Given the description of an element on the screen output the (x, y) to click on. 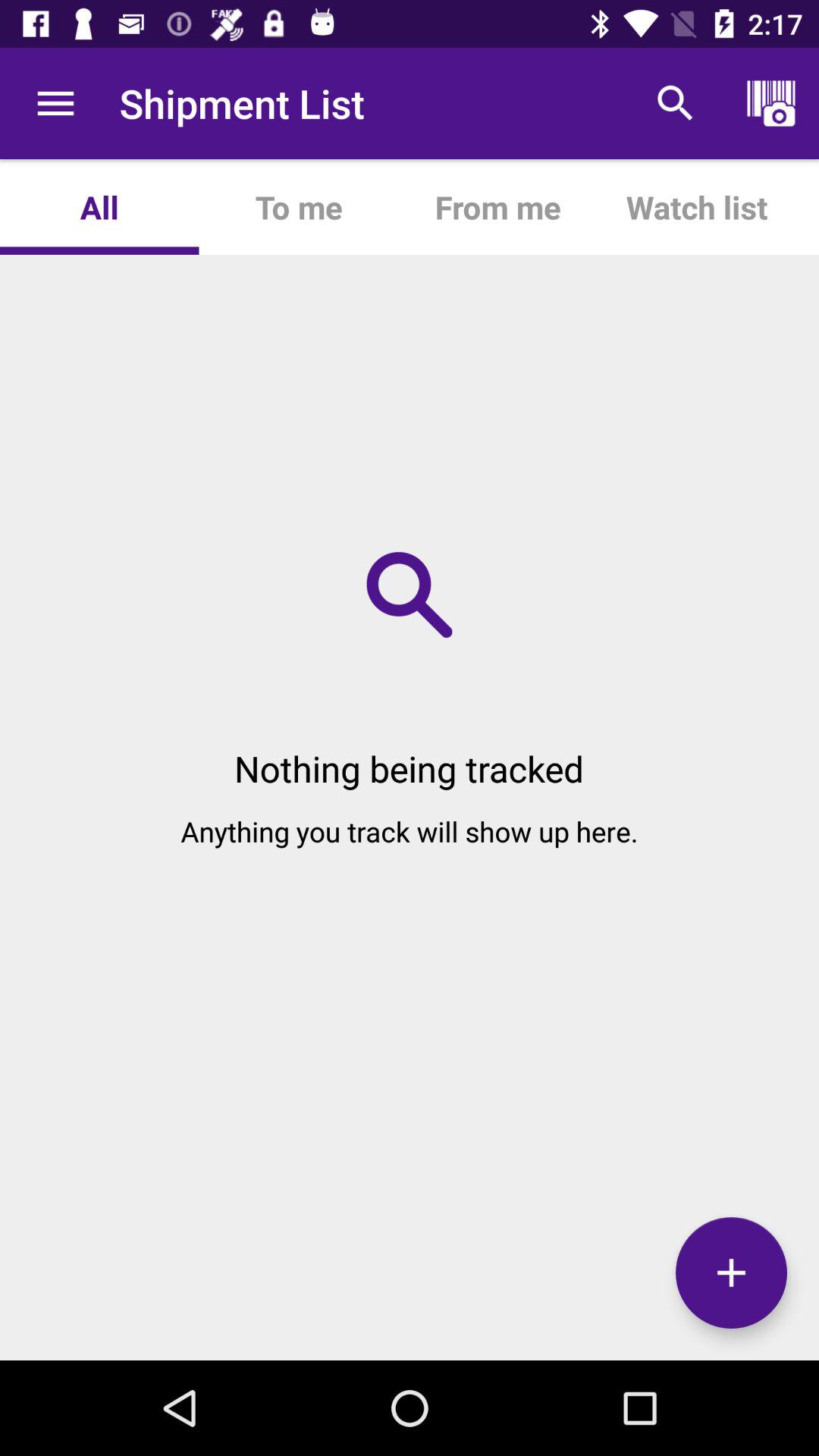
choose the app above all item (55, 103)
